Given the description of an element on the screen output the (x, y) to click on. 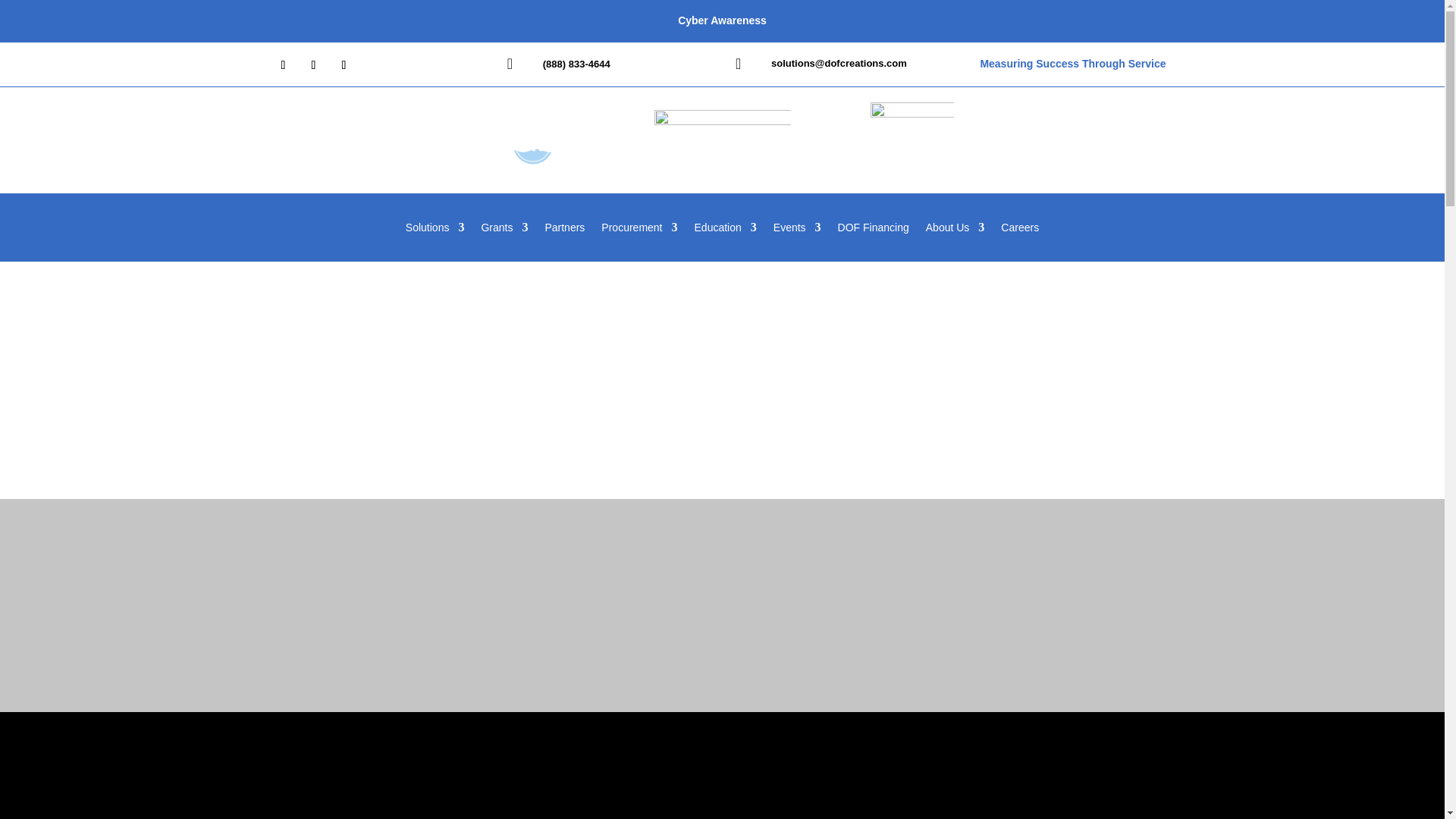
DOF-LOGO-6 (721, 143)
Grants (503, 230)
About Us (955, 230)
Education (725, 230)
Follow on LinkedIn (313, 64)
Solutions (435, 230)
Follow on Youtube (343, 64)
Follow on X (282, 64)
DOF Financing (873, 230)
Events (797, 230)
Youtube (911, 143)
Partners (564, 230)
Careers (1020, 230)
Cyber Awareness (721, 21)
Procurement (639, 230)
